Given the description of an element on the screen output the (x, y) to click on. 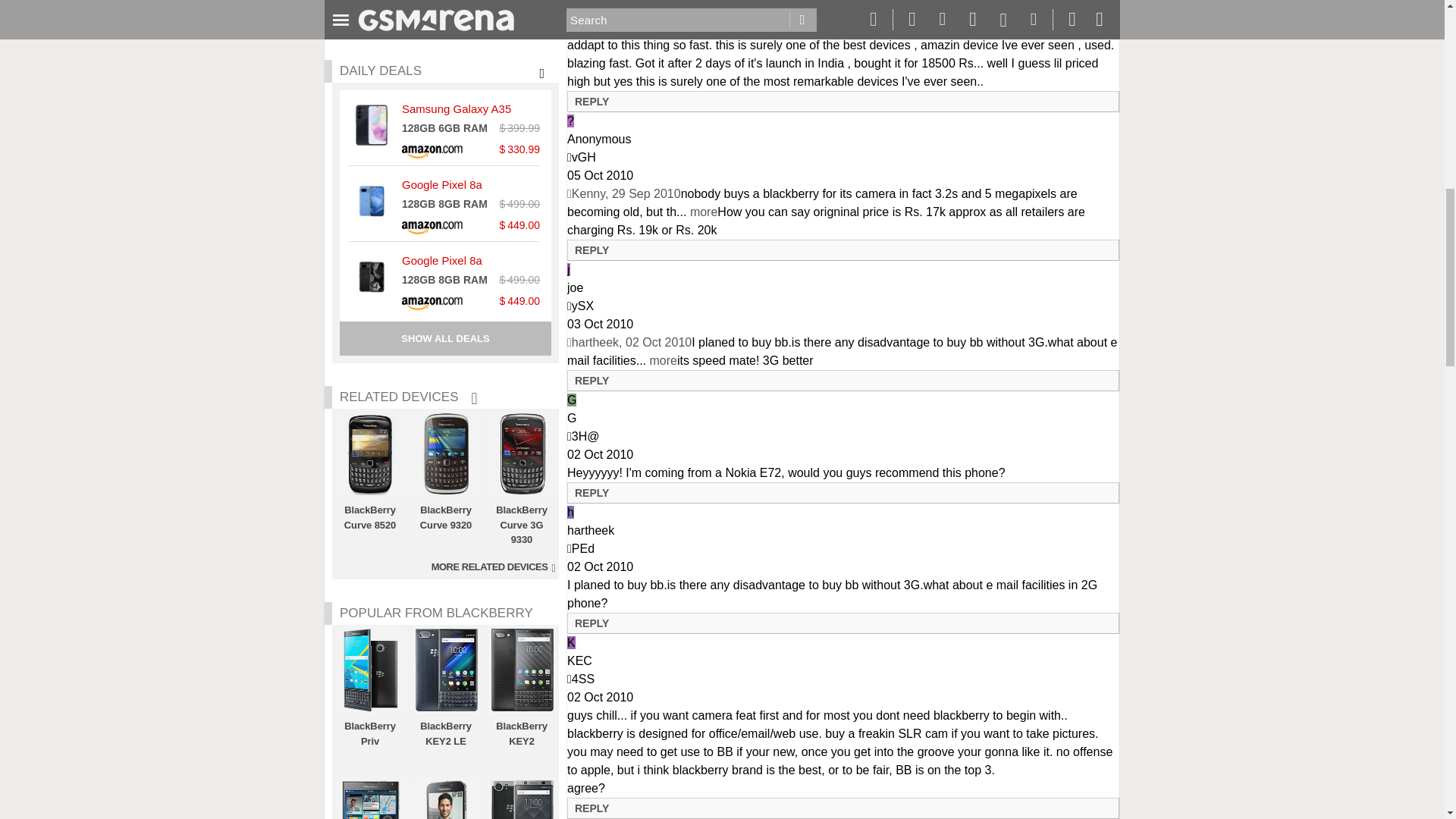
Encoded anonymized location (583, 156)
Encoded anonymized location (583, 305)
Reply to this post (591, 380)
Reply to this post (591, 250)
Encoded anonymized location (585, 436)
Reply to this post (591, 492)
Encoded anonymized location (583, 548)
Reply to this post (591, 101)
